Given the description of an element on the screen output the (x, y) to click on. 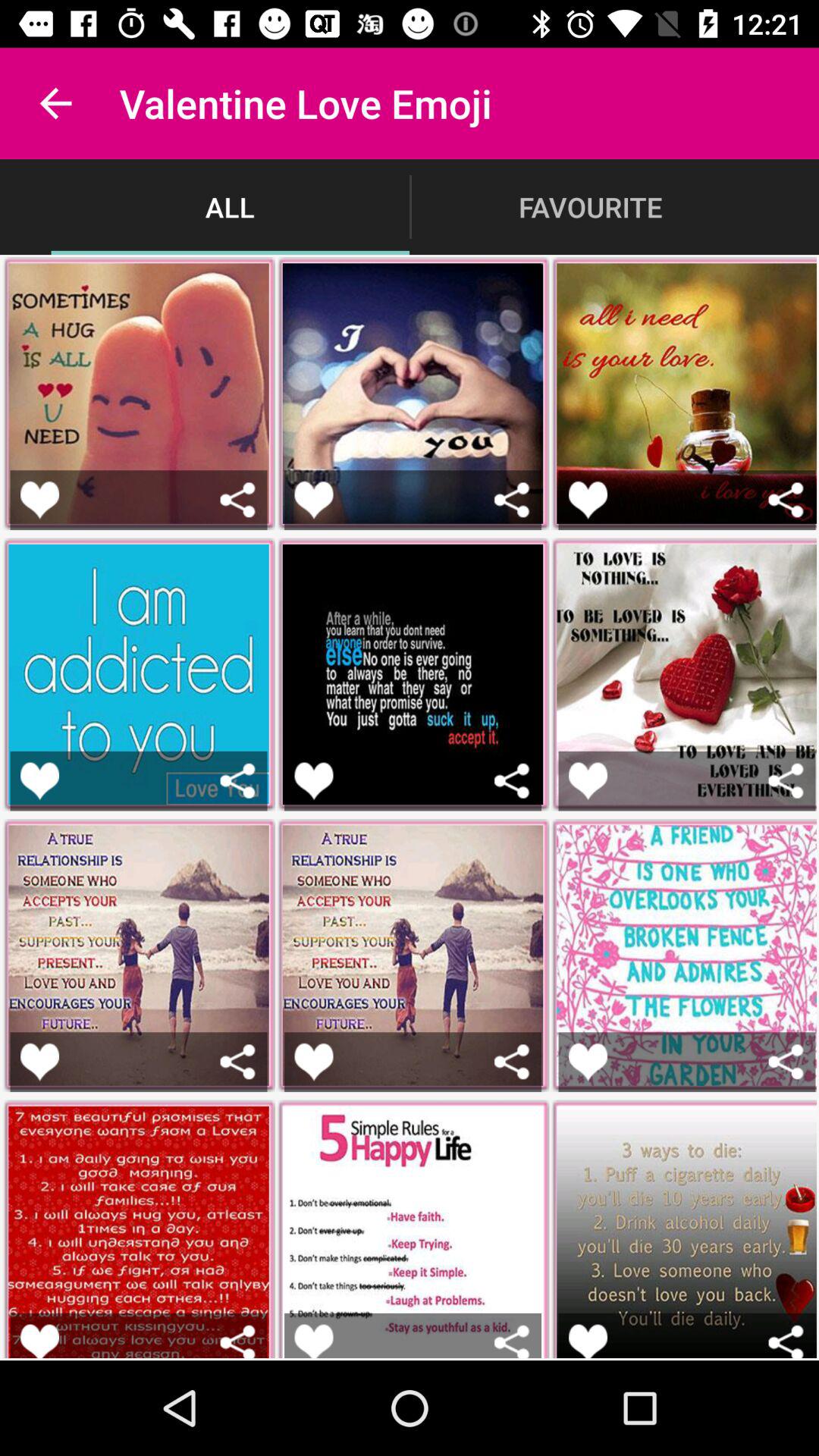
favorite (587, 780)
